Given the description of an element on the screen output the (x, y) to click on. 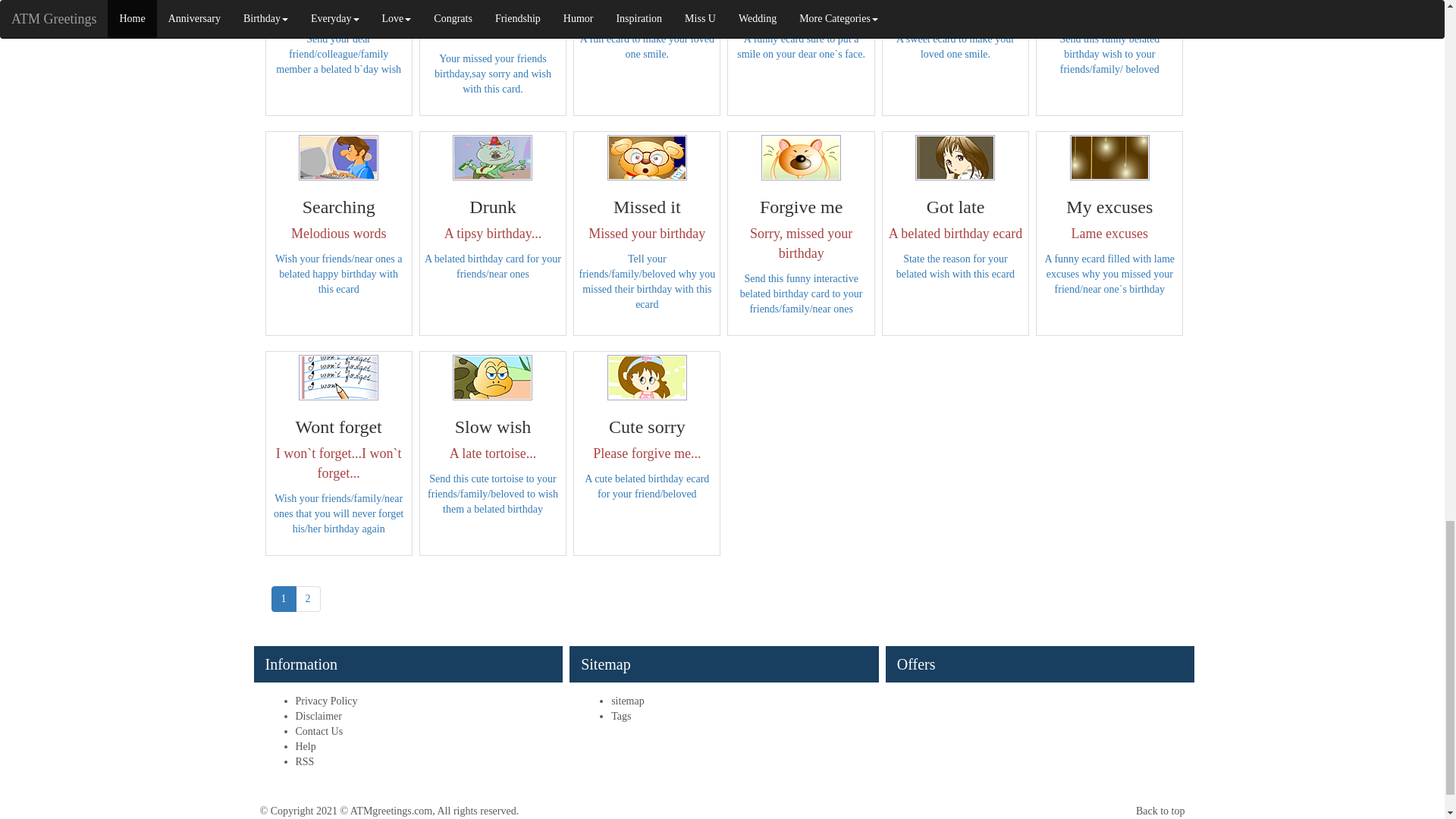
Missed your birthday (647, 157)
A tipsy birthday... (492, 157)
Lame excuses (1110, 157)
Melodious words (338, 157)
A belated birthday ecard (954, 157)
Sorry, missed your birthday (801, 157)
